Given the description of an element on the screen output the (x, y) to click on. 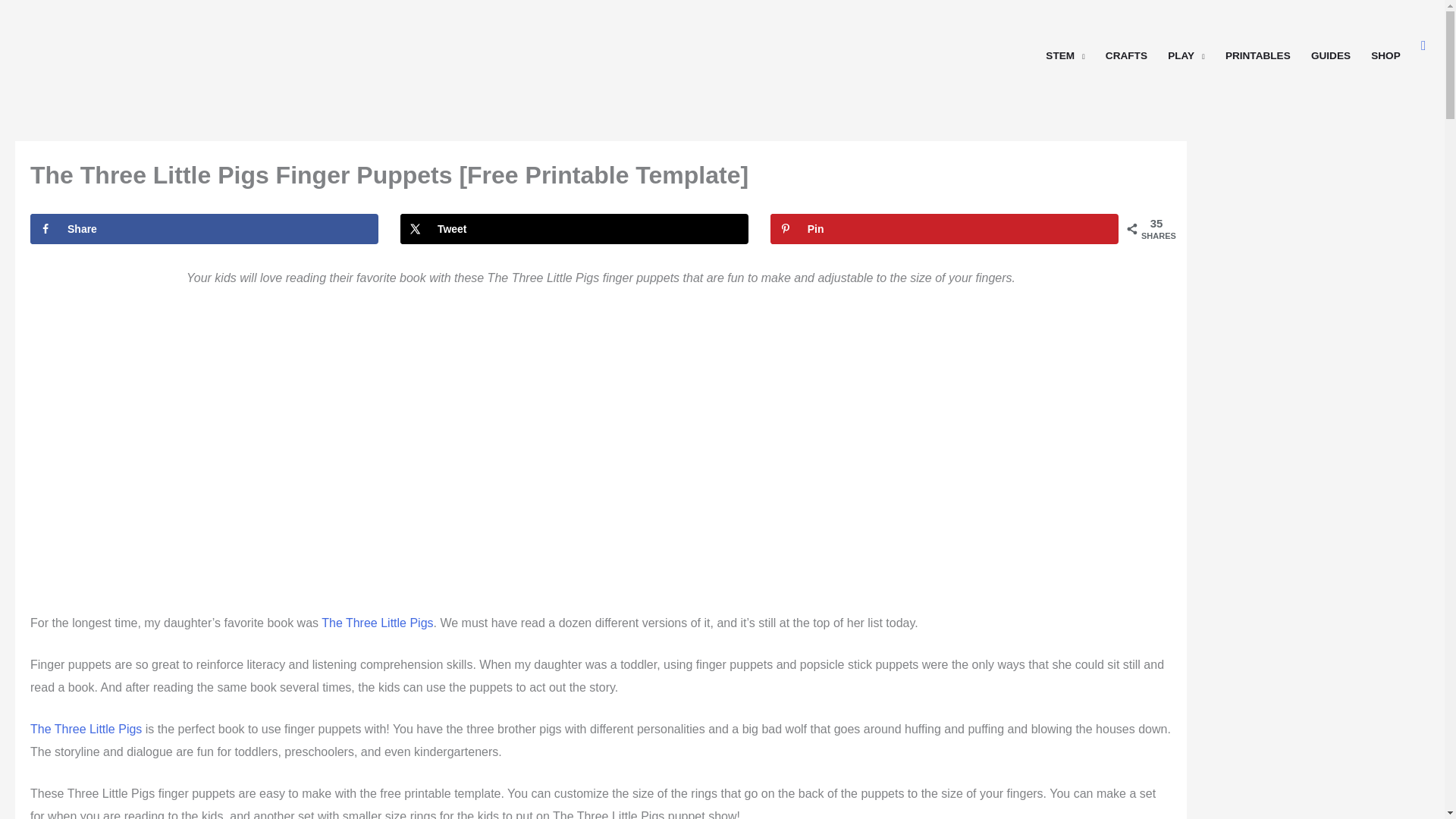
Share on Facebook (204, 228)
Share on X (574, 228)
Tweet (574, 228)
Pin (944, 228)
Share (204, 228)
CRAFTS (1125, 46)
STEM (1064, 46)
GUIDES (1329, 46)
SHOP (1385, 46)
PLAY (1186, 46)
The Three Little Pigs (85, 728)
The Three Little Pigs (376, 622)
Save to Pinterest (944, 228)
PRINTABLES (1257, 46)
